Given the description of an element on the screen output the (x, y) to click on. 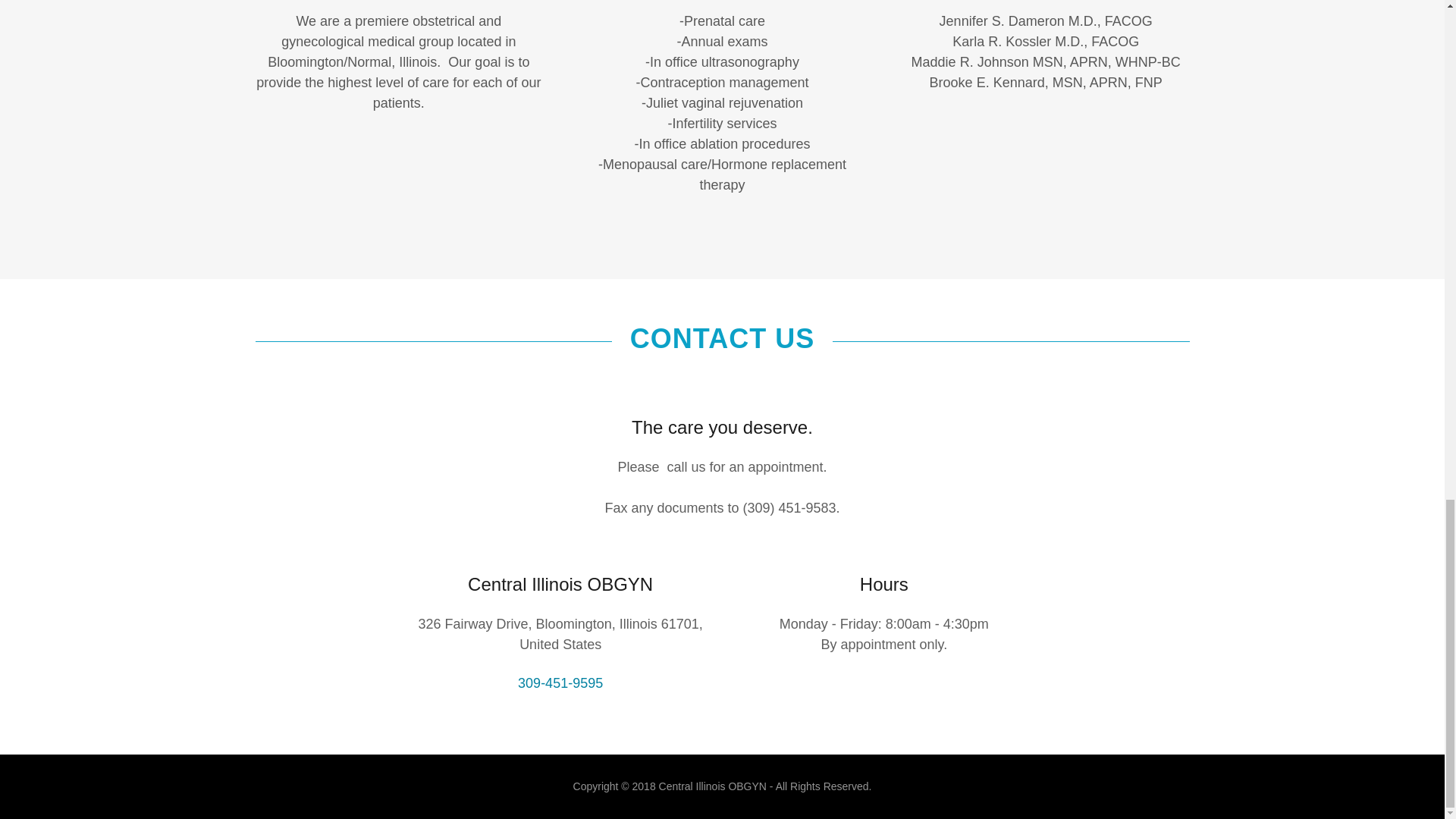
309-451-9595 (560, 683)
